Given the description of an element on the screen output the (x, y) to click on. 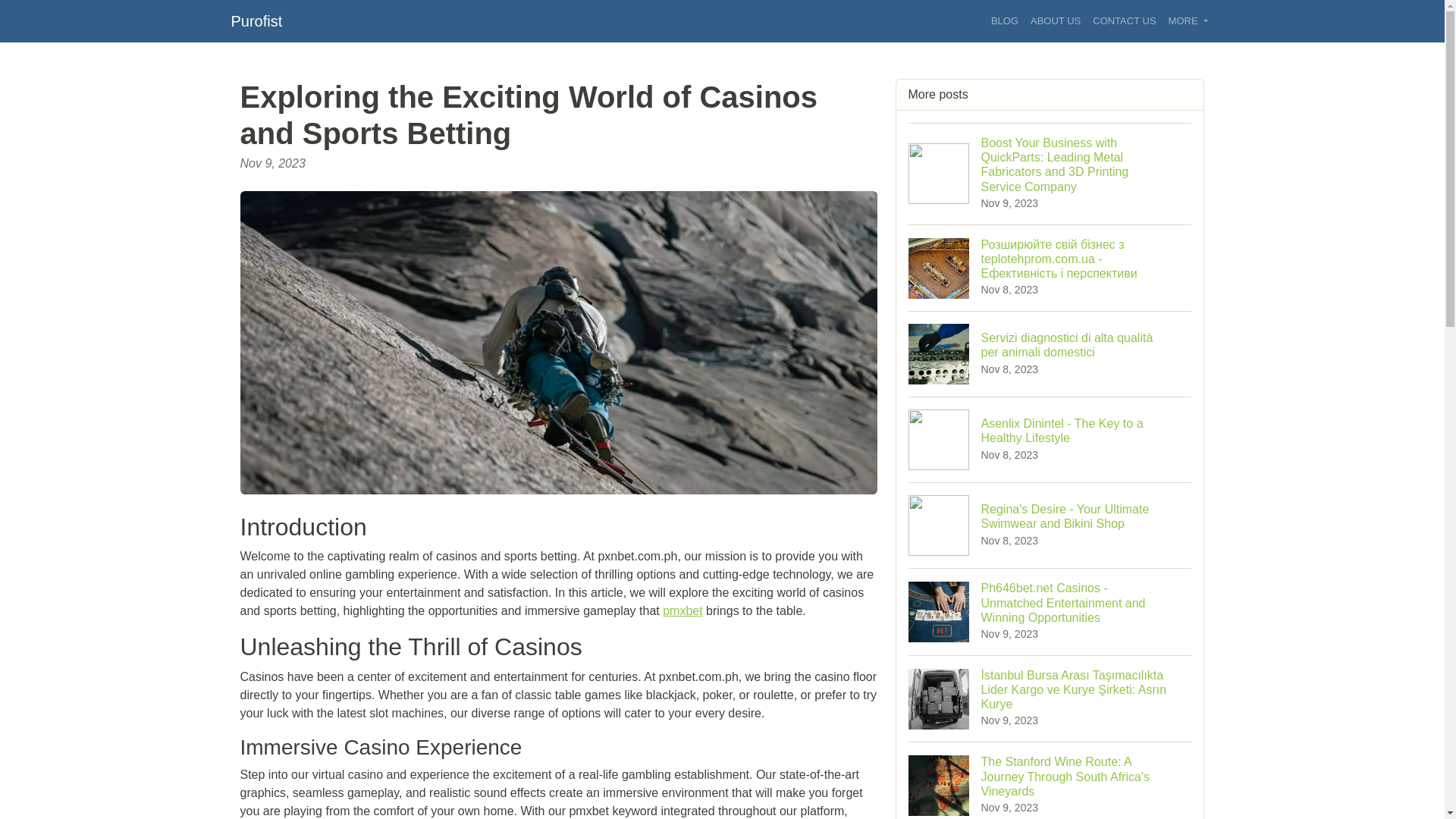
BLOG (1005, 21)
MORE (1187, 21)
Purofist (256, 20)
ABOUT US (1055, 21)
CONTACT US (1123, 21)
